Given the description of an element on the screen output the (x, y) to click on. 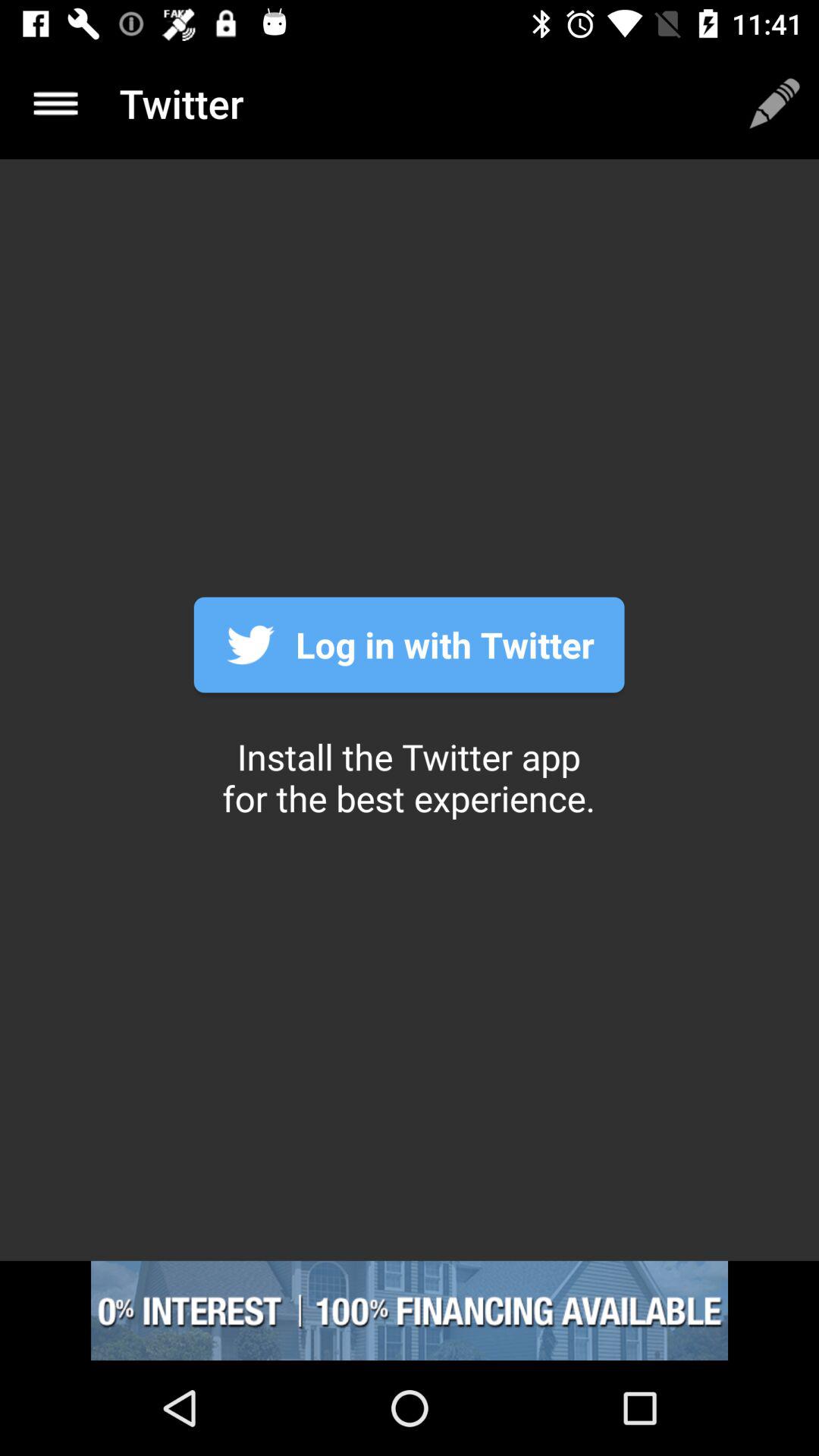
go to search (55, 103)
